Given the description of an element on the screen output the (x, y) to click on. 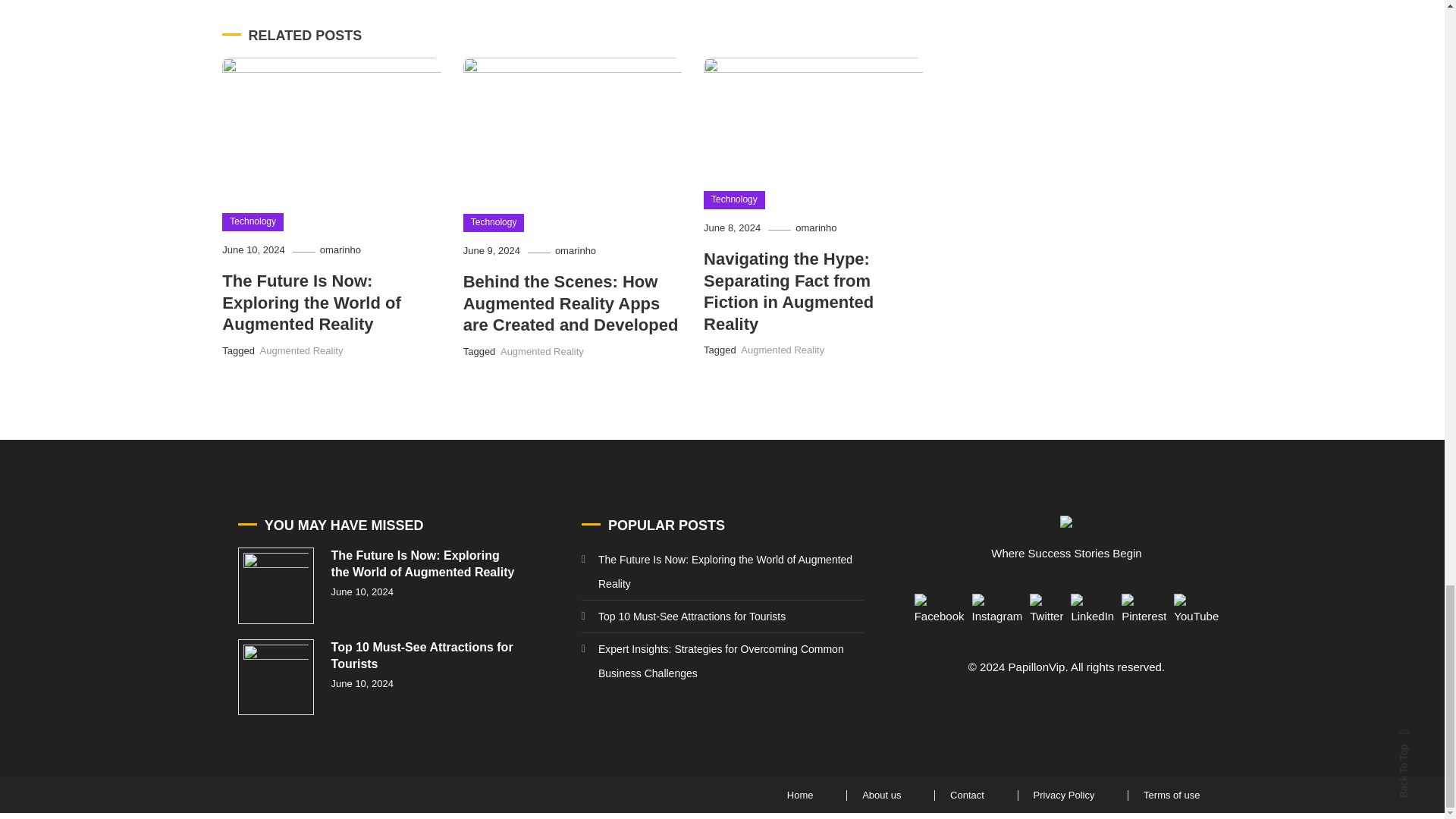
June 8, 2024 (731, 227)
Technology (493, 222)
Technology (252, 221)
The Future Is Now: Exploring the World of Augmented Reality (276, 585)
The Future Is Now: Exploring the World of Augmented Reality (311, 302)
Augmented Reality (301, 350)
June 9, 2024 (491, 250)
Augmented Reality (541, 351)
omarinho (574, 250)
